Given the description of an element on the screen output the (x, y) to click on. 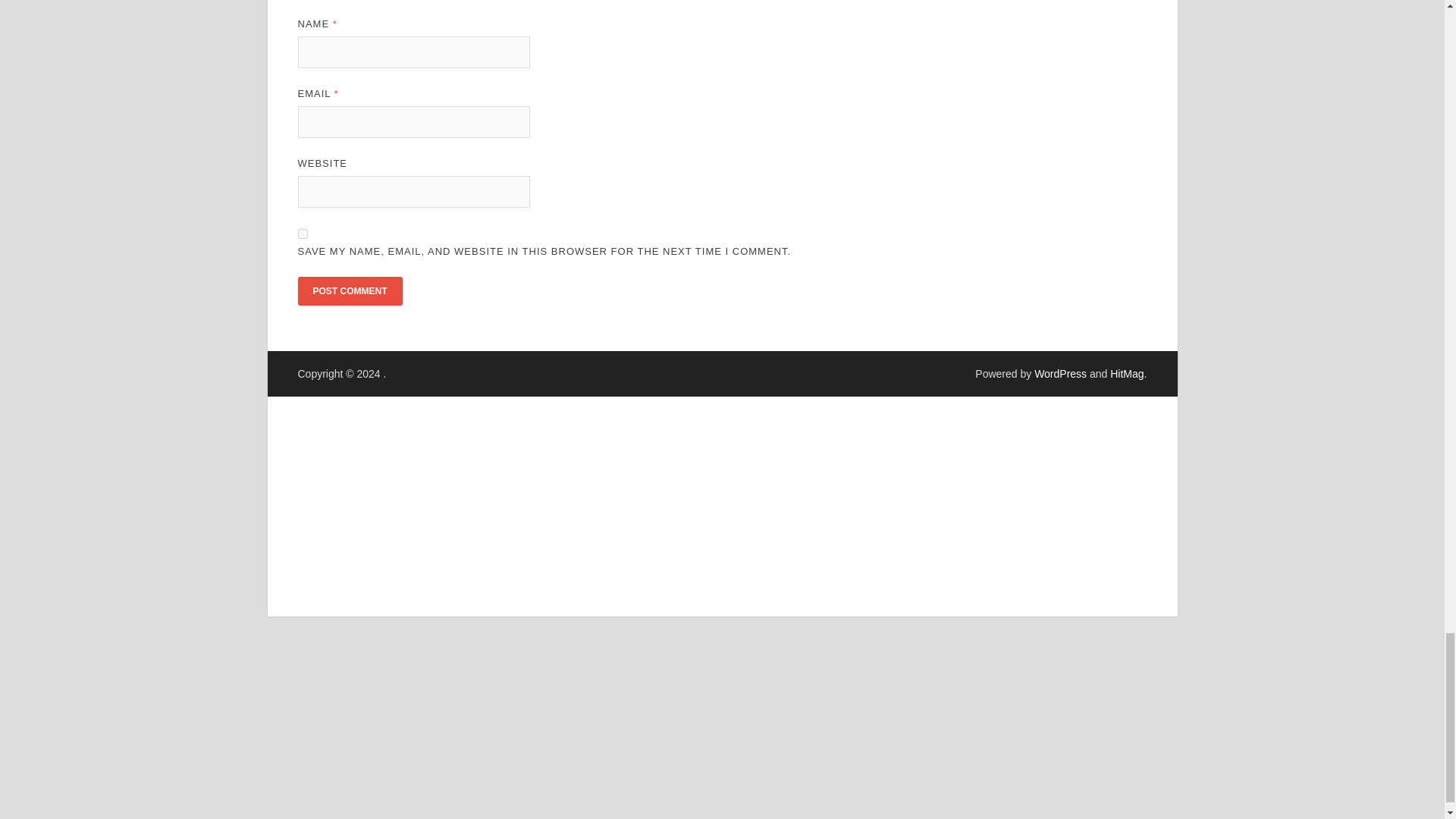
WordPress (1059, 373)
HitMag WordPress Theme (1125, 373)
yes (302, 234)
Post Comment (349, 290)
